Given the description of an element on the screen output the (x, y) to click on. 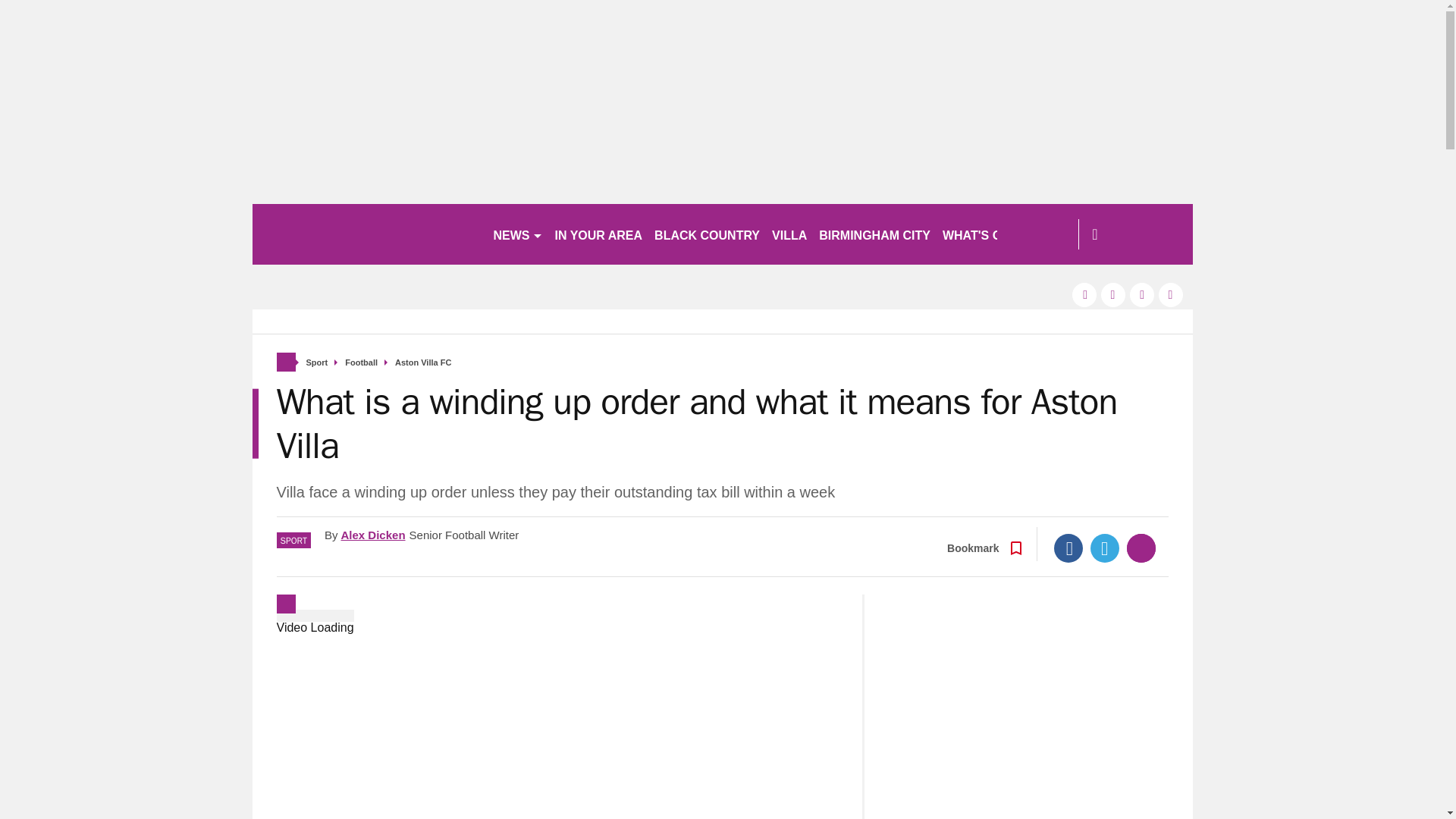
WHAT'S ON (982, 233)
twitter (1112, 294)
IN YOUR AREA (598, 233)
NEWS (517, 233)
birminghammail (365, 233)
instagram (1170, 294)
Facebook (1068, 547)
BLACK COUNTRY (706, 233)
Twitter (1104, 547)
BIRMINGHAM CITY (874, 233)
tiktok (1141, 294)
facebook (1083, 294)
